Given the description of an element on the screen output the (x, y) to click on. 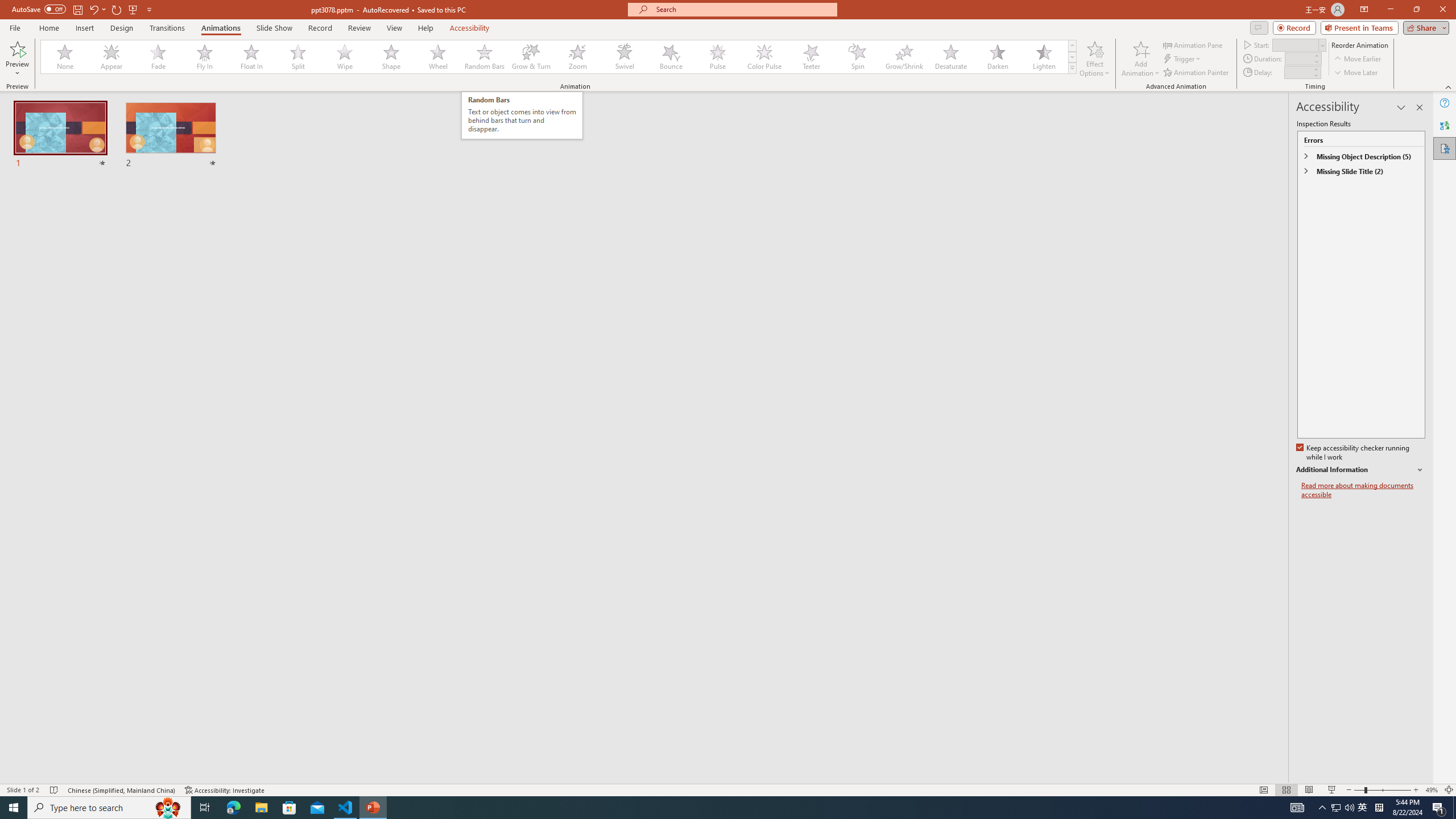
Pulse (717, 56)
Animation Painter (1196, 72)
